Given the description of an element on the screen output the (x, y) to click on. 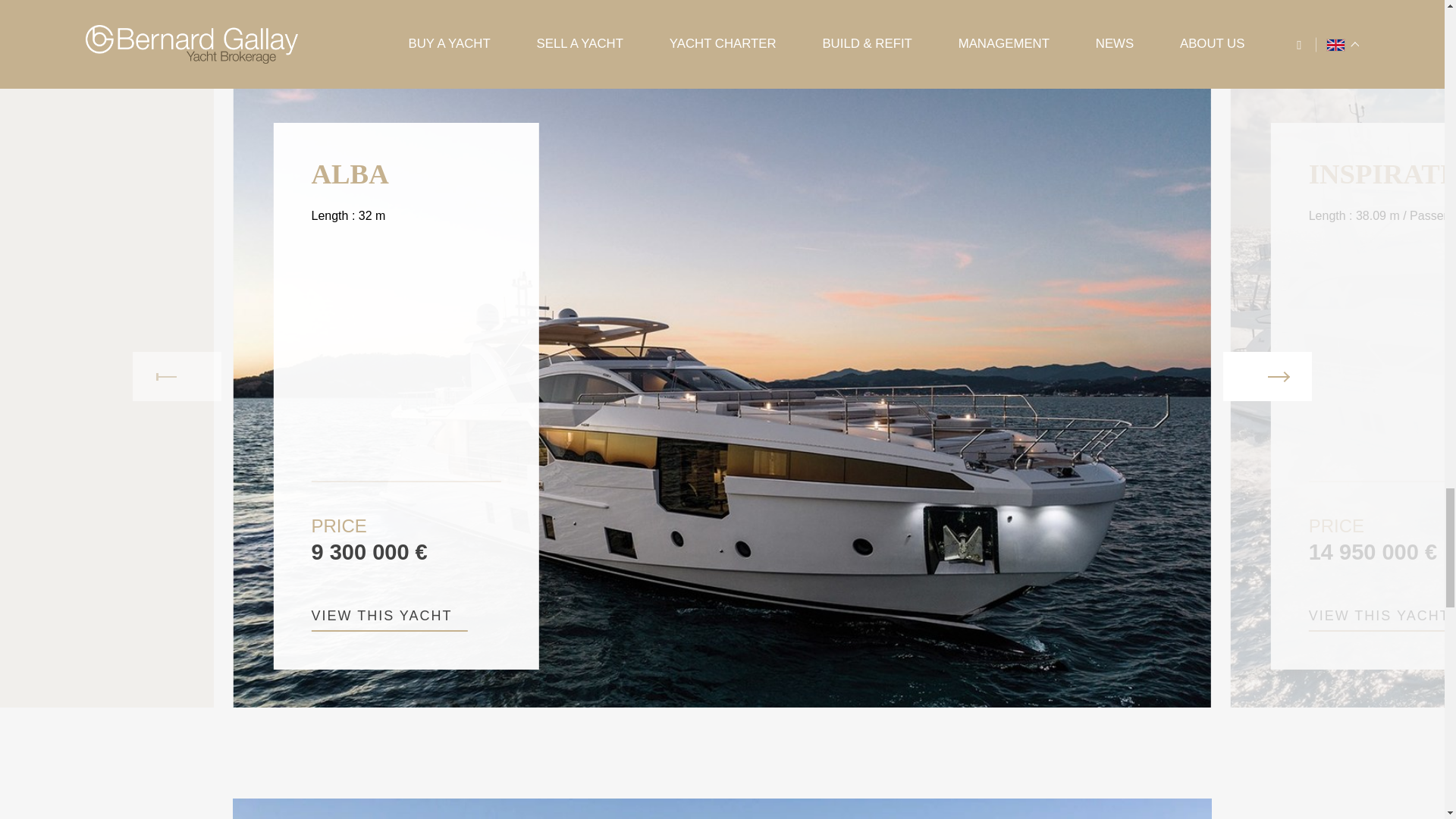
VIEW THIS YACHT (389, 620)
